Given the description of an element on the screen output the (x, y) to click on. 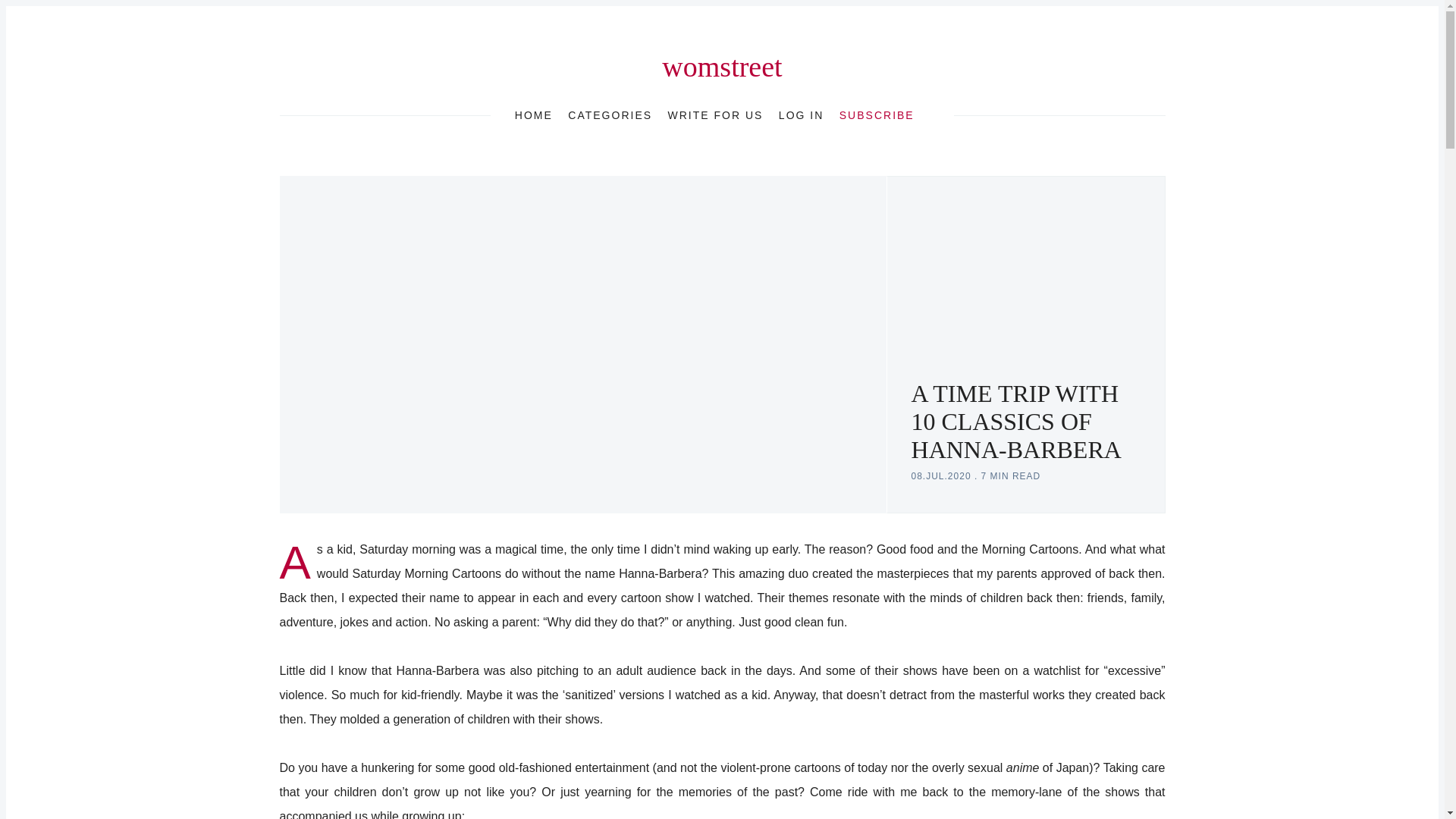
SUBSCRIBE (877, 114)
WRITE FOR US (715, 114)
LOG IN (801, 114)
CATEGORIES (609, 114)
HOME (534, 114)
womstreet (721, 66)
